Given the description of an element on the screen output the (x, y) to click on. 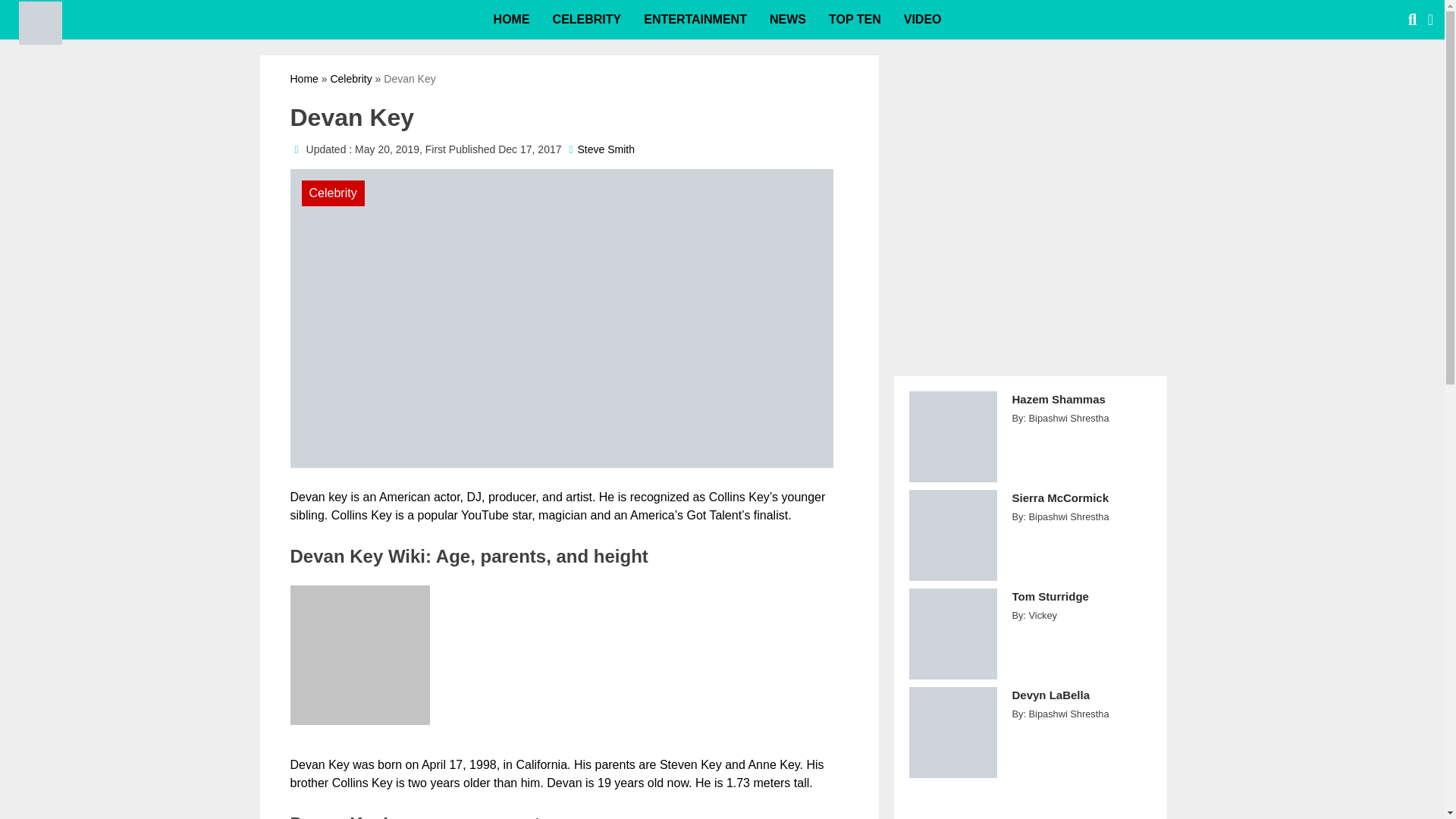
Celebrity (350, 78)
Sierra McCormick (1081, 505)
Young Devan Key with his parents (359, 654)
CELEBRITY (587, 19)
Devyn LaBella (1081, 703)
Steve Smith (606, 149)
Steve Smith (606, 149)
Hazem Shammas (1081, 407)
VIDEO (922, 19)
TOP TEN (854, 19)
NEWS (787, 19)
HOME (511, 19)
Tom Sturridge (1081, 604)
ENTERTAINMENT (694, 19)
Home (303, 78)
